Given the description of an element on the screen output the (x, y) to click on. 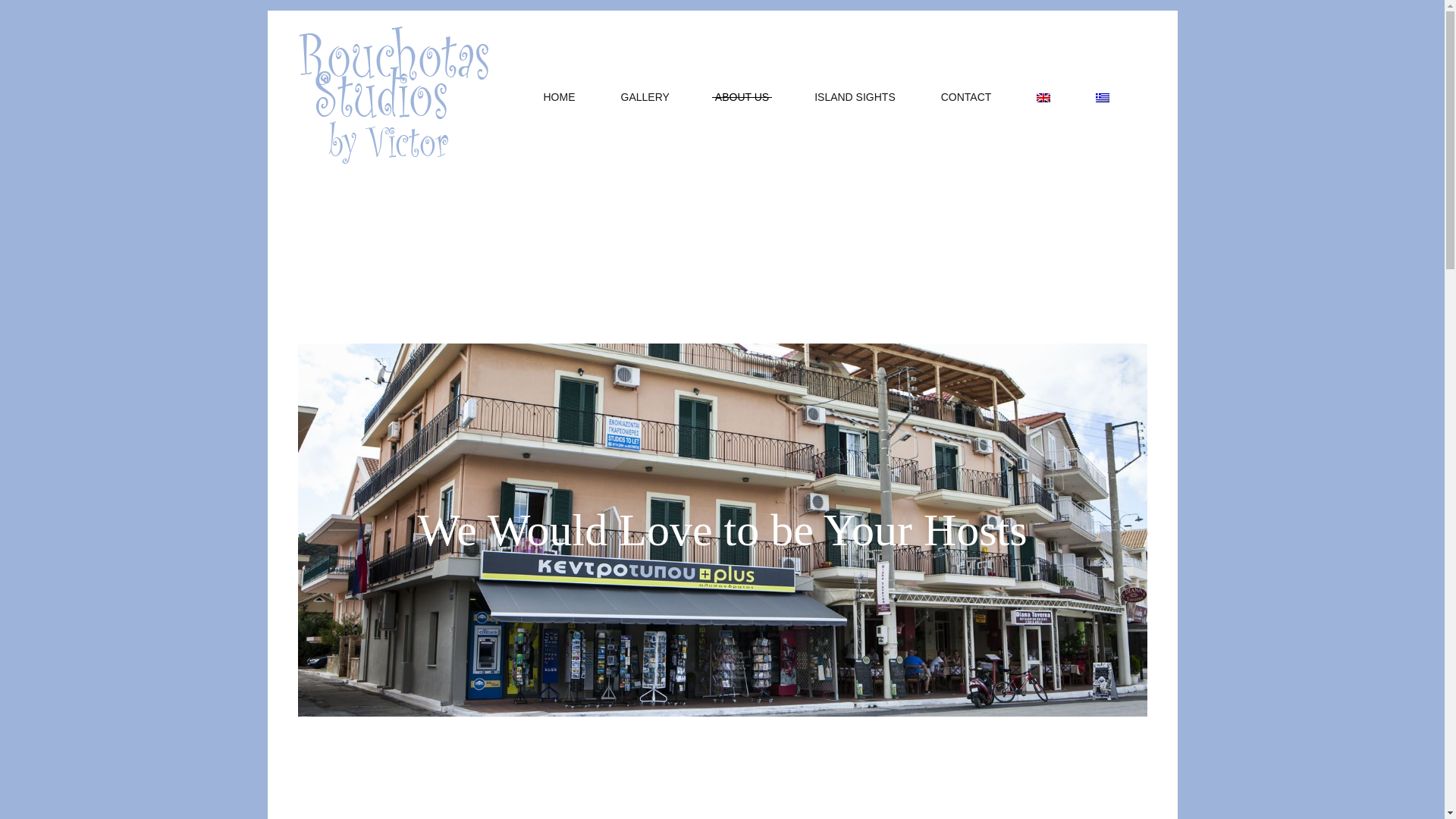
HOME (557, 96)
English (1042, 96)
ISLAND SIGHTS (855, 96)
CONTACT (966, 96)
ABOUT US (742, 96)
GALLERY (643, 96)
